Given the description of an element on the screen output the (x, y) to click on. 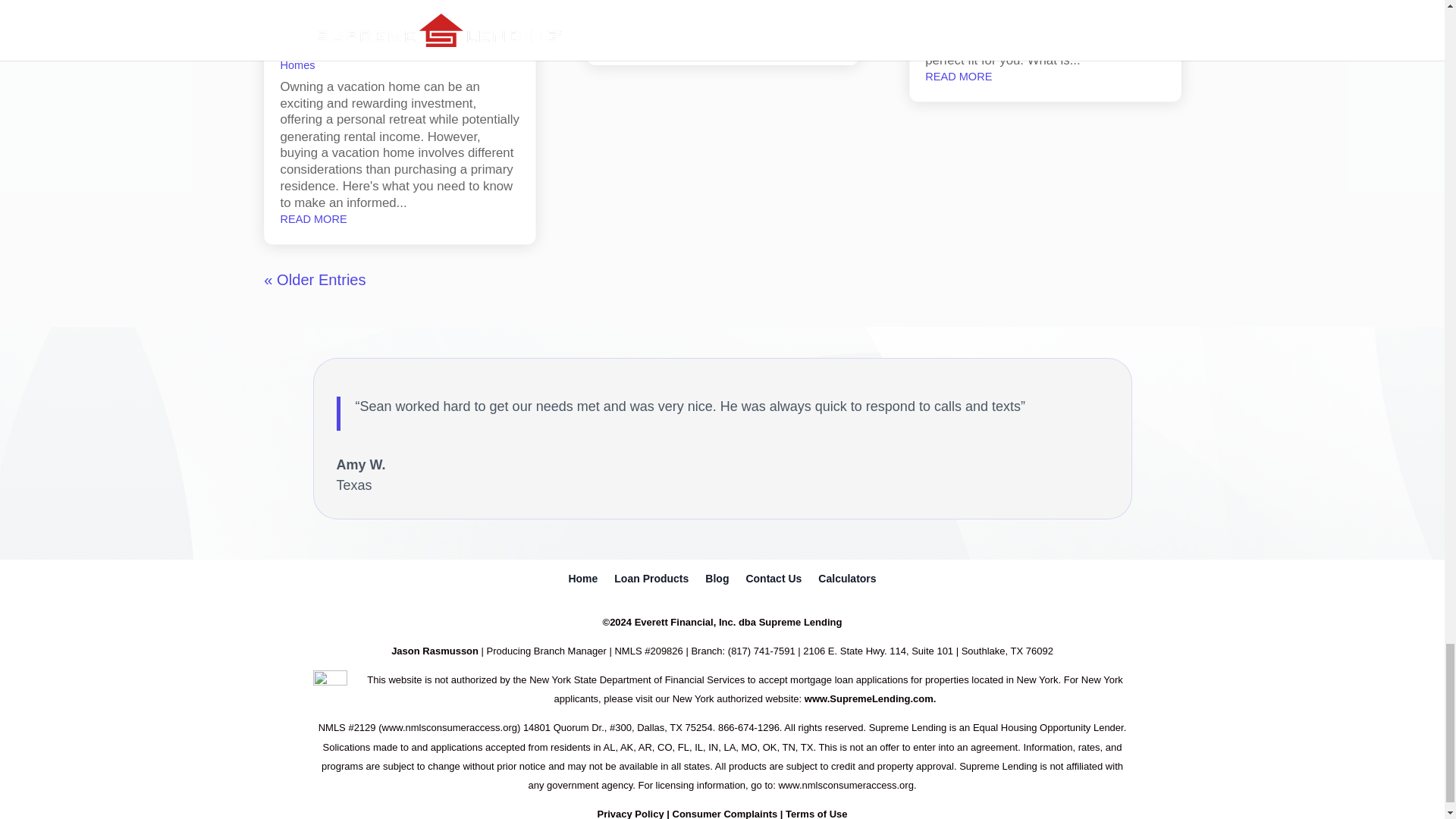
Contact Us (773, 581)
Mortgage (456, 50)
READ MORE (954, 75)
Blog (716, 581)
READ MORE (309, 218)
Calculators (847, 581)
Loan Products (651, 581)
The Ultimate Guide to Purchasing Your Dream Vacation Home (376, 18)
New Homes (381, 56)
READ MORE (632, 39)
Home (581, 581)
Homeownership (384, 50)
